Given the description of an element on the screen output the (x, y) to click on. 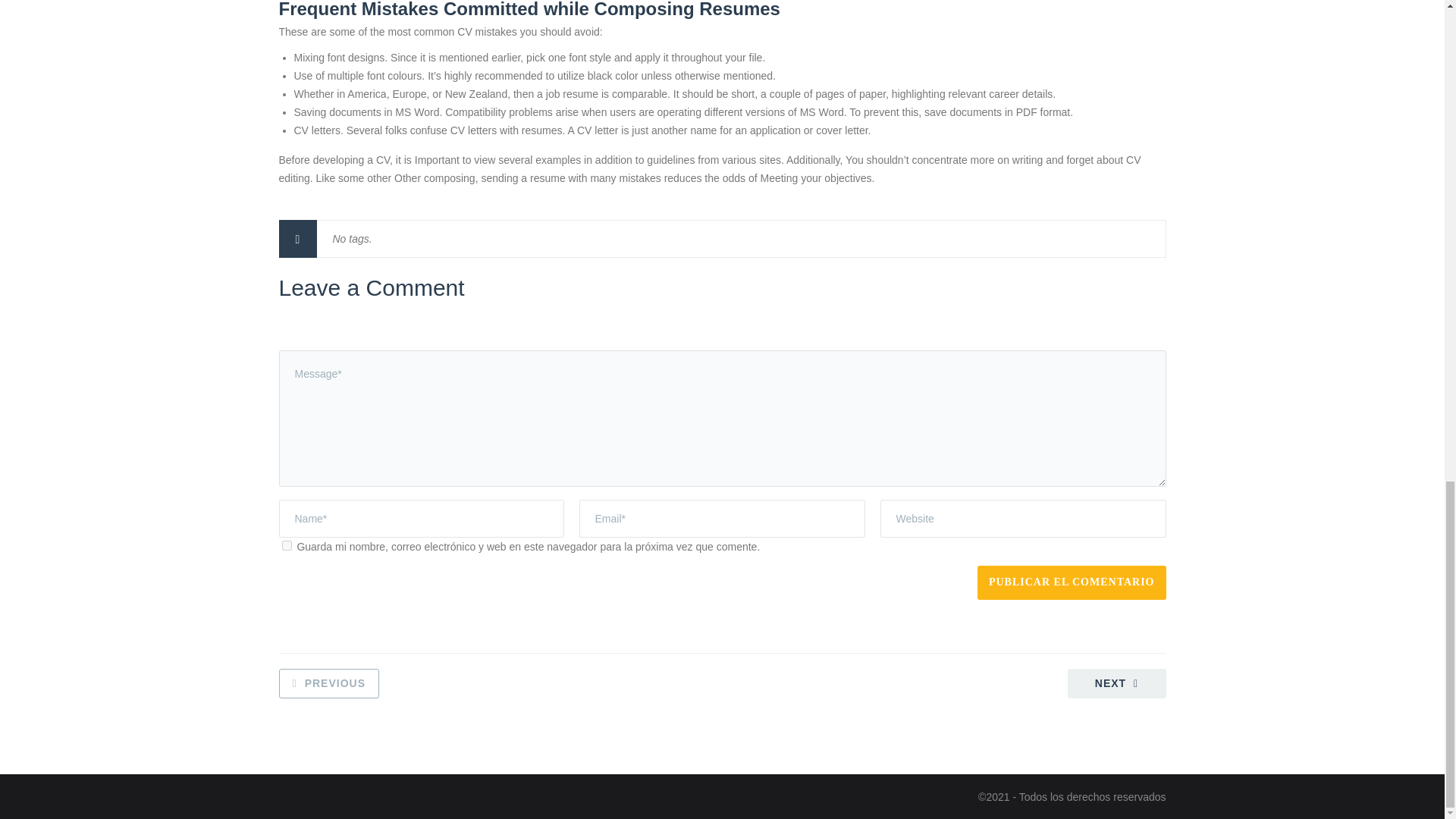
NEXT (1116, 683)
PREVIOUS (328, 683)
Publicar el comentario (1071, 582)
yes (287, 545)
Publicar el comentario (1071, 582)
